Given the description of an element on the screen output the (x, y) to click on. 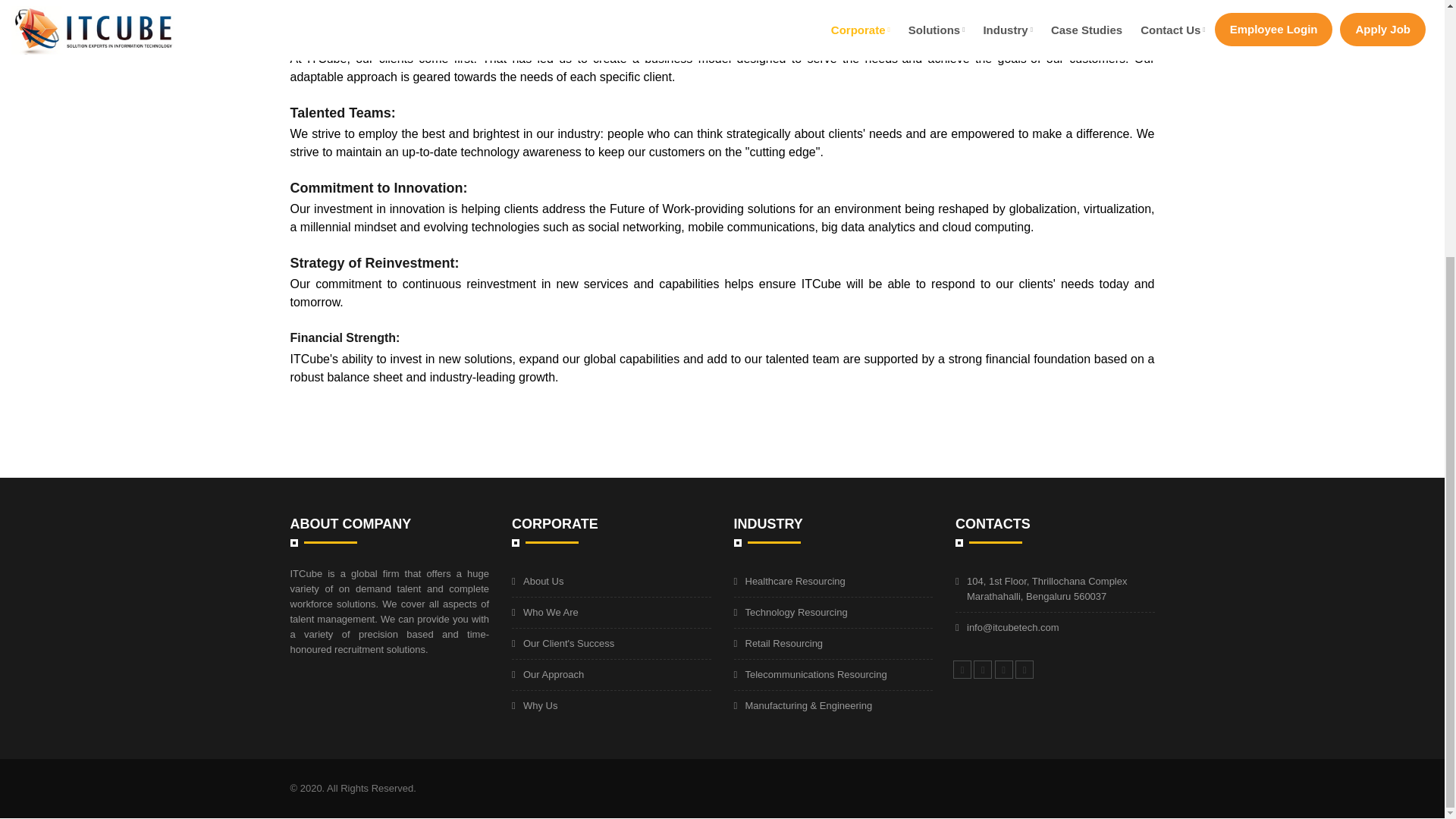
About Us (542, 581)
Who We Are (550, 612)
